Given the description of an element on the screen output the (x, y) to click on. 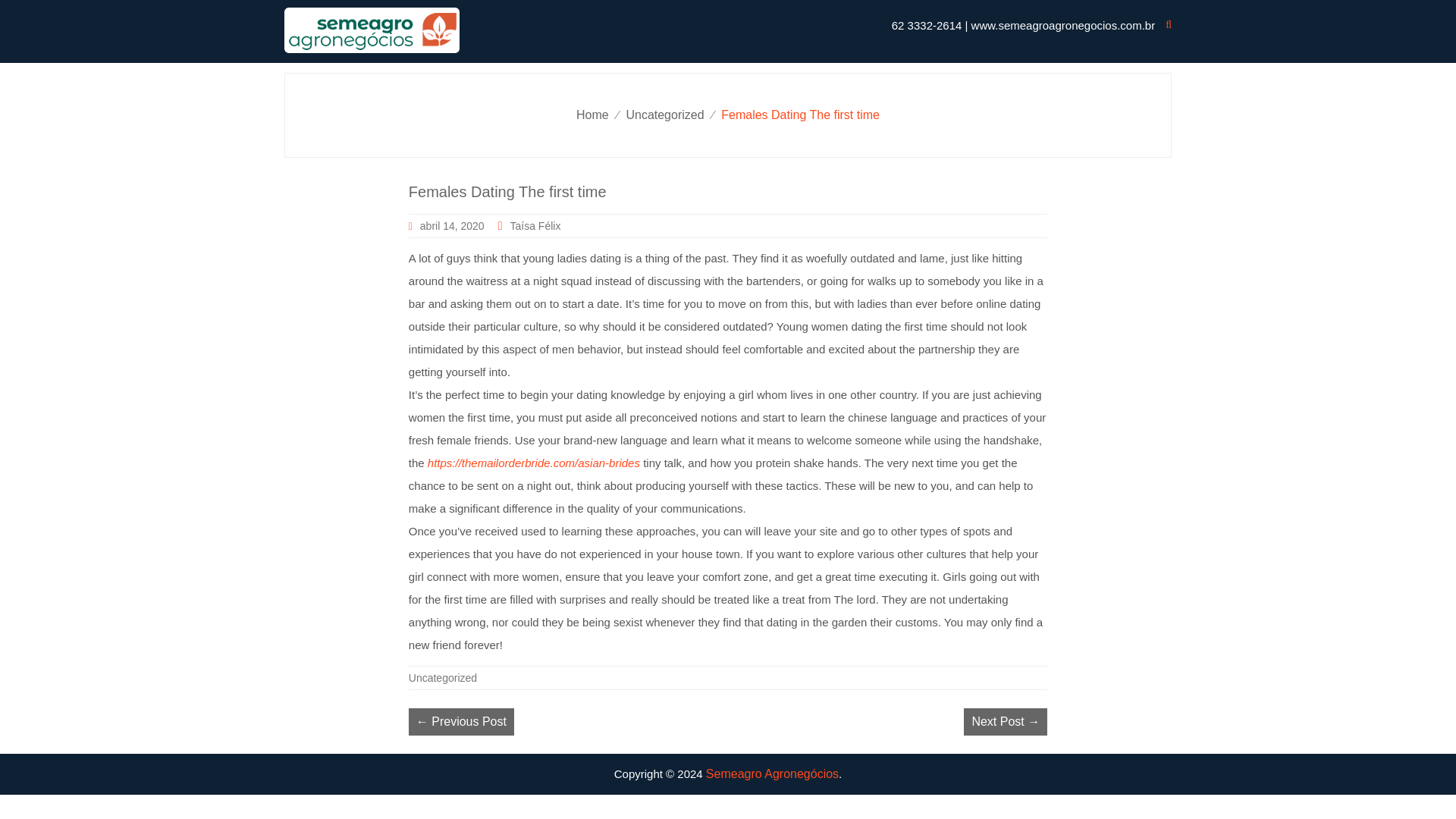
abril 14, 2020 (446, 225)
Uncategorized (664, 114)
12:00 AM (446, 225)
Home (592, 114)
Uncategorized (443, 677)
